Given the description of an element on the screen output the (x, y) to click on. 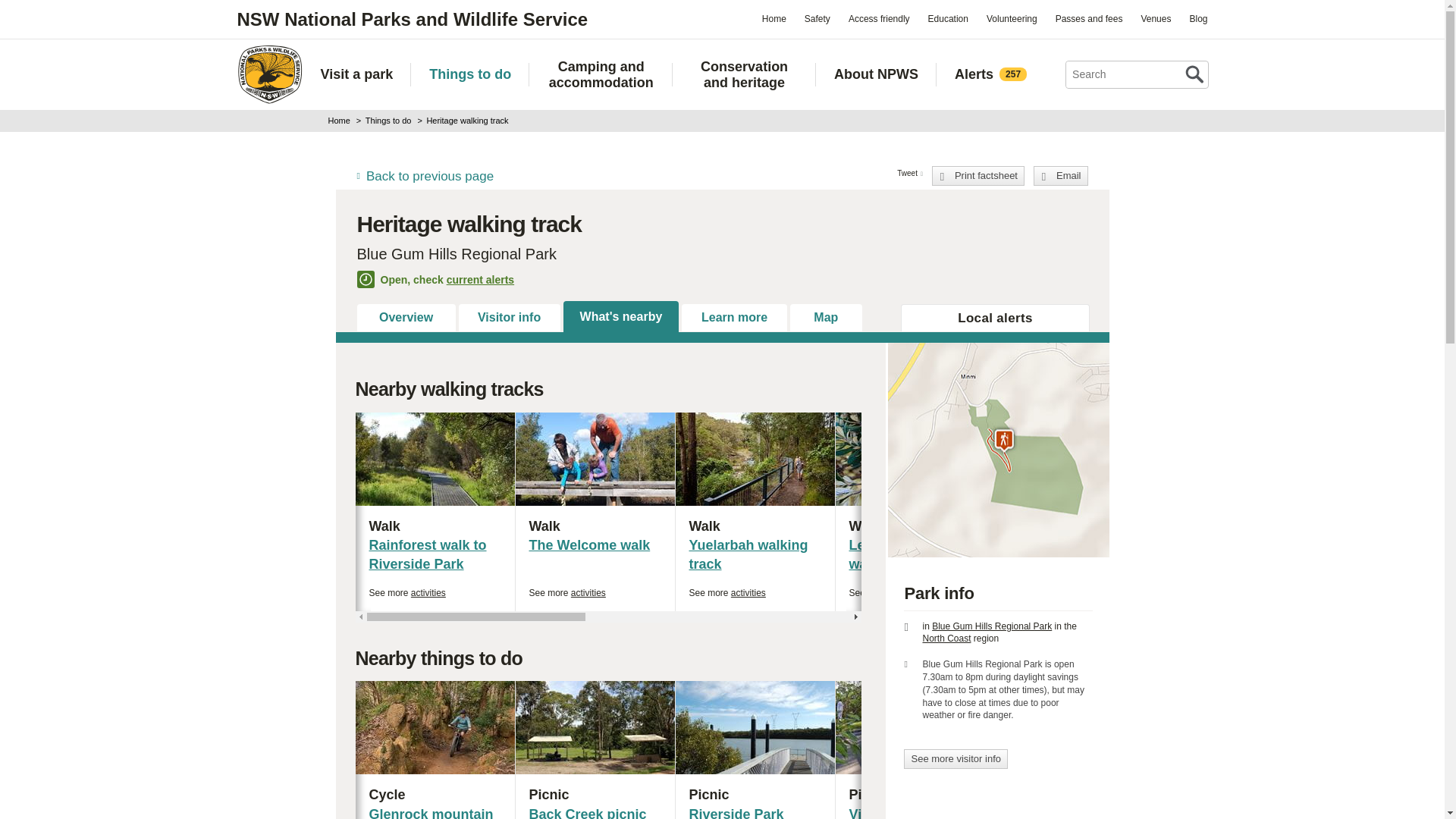
Yuelarbah walking track (748, 554)
Visit (1235, 794)
Riverside Park (735, 812)
Walk (914, 526)
Walk (1074, 526)
Leggy Point loop walking track (903, 554)
See more activities (1366, 593)
Visit a park (356, 73)
See more activities (567, 593)
Access friendly (879, 18)
Cycle (434, 794)
Volunteering (1011, 18)
Home (773, 18)
Education (947, 18)
